Given the description of an element on the screen output the (x, y) to click on. 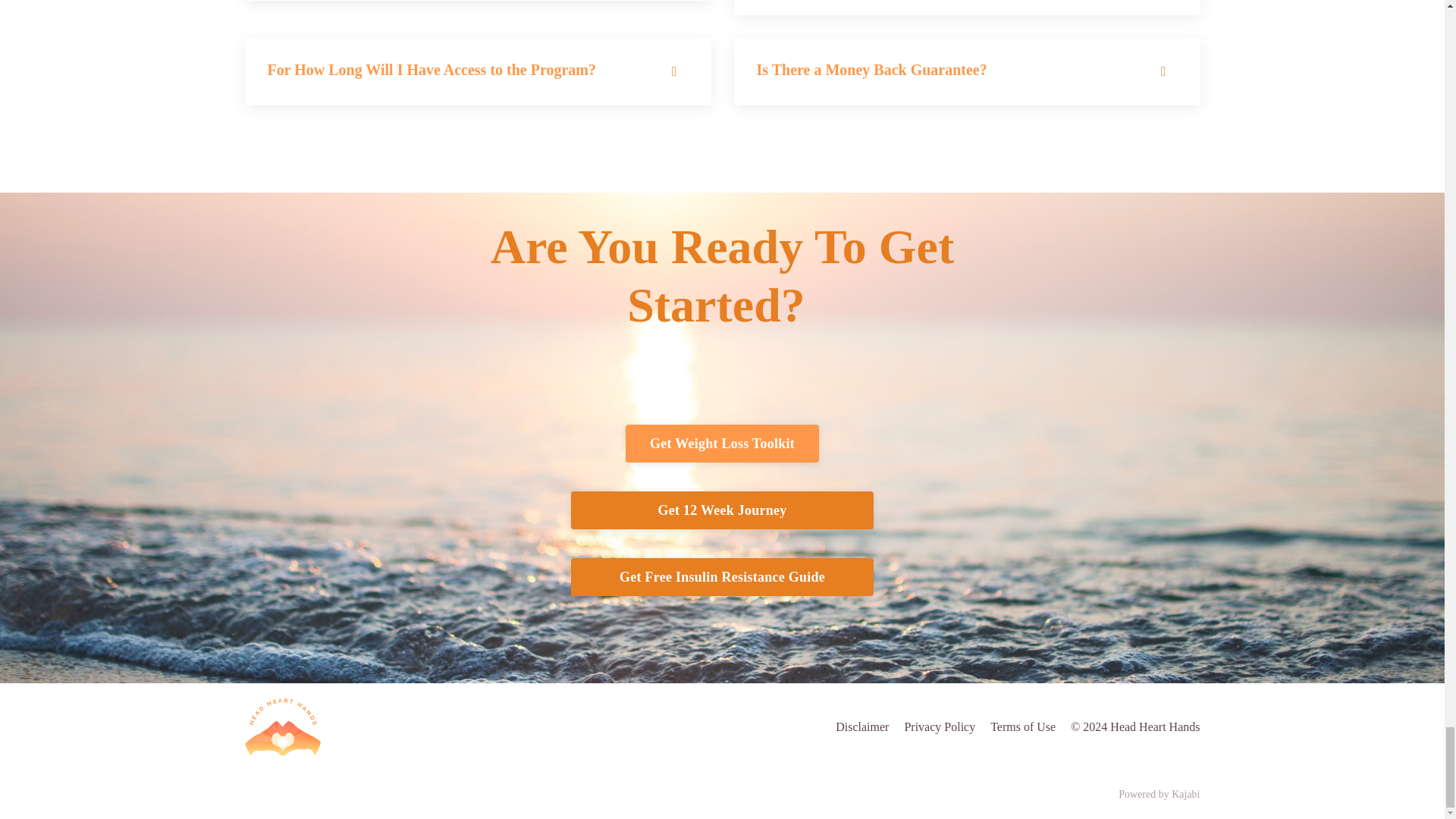
Privacy Policy (939, 727)
Get 12 Week Journey (721, 510)
Terms of Use (1022, 727)
Powered by Kajabi (1158, 794)
Disclaimer (861, 727)
Get Weight Loss Toolkit (722, 443)
Get Free Insulin Resistance Guide (721, 576)
